Given the description of an element on the screen output the (x, y) to click on. 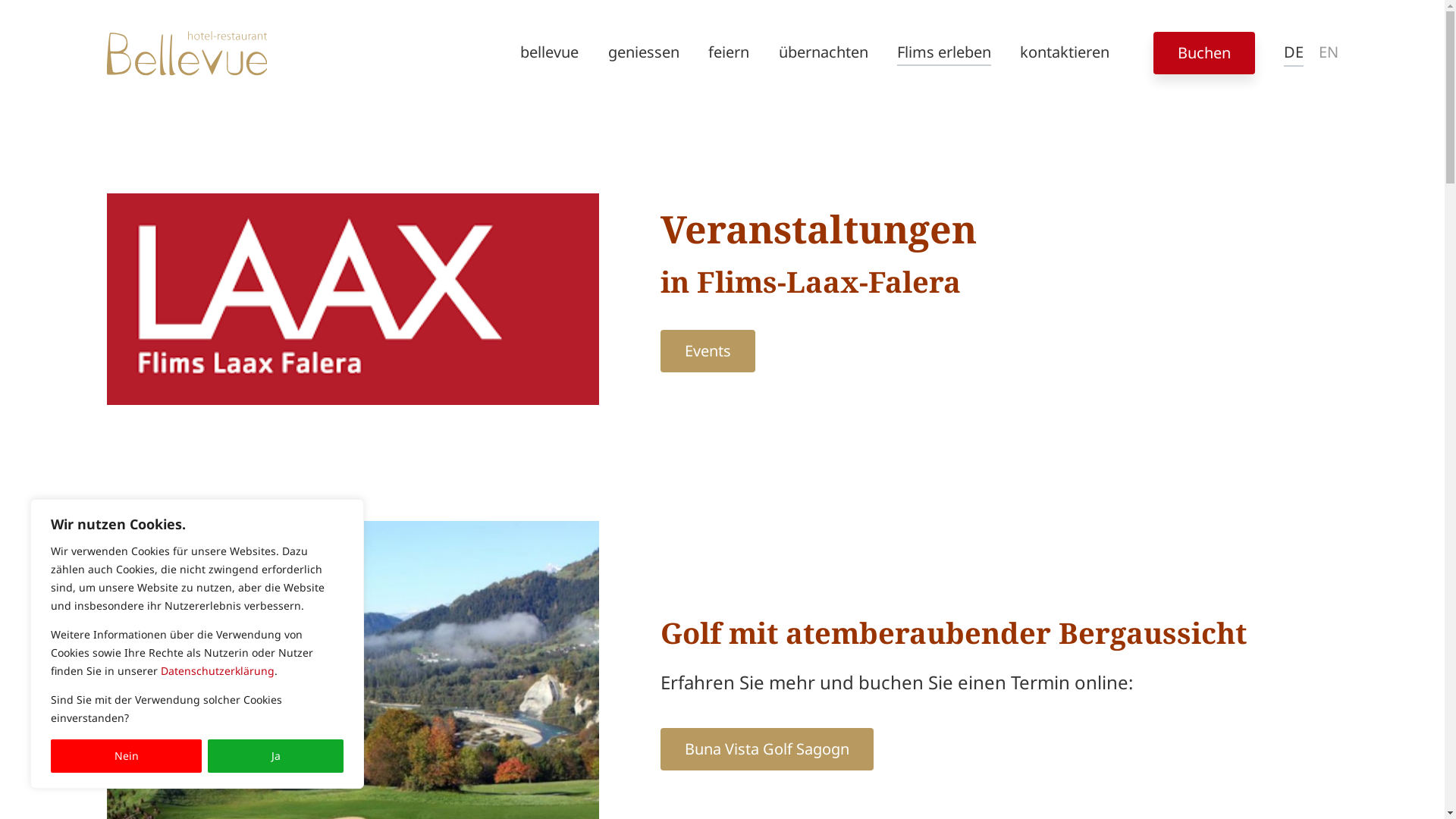
images FLF Element type: hover (352, 298)
geniessen Element type: text (643, 52)
Hotel Bellevue Element type: text (186, 53)
EN Element type: text (1327, 52)
Flims erleben Element type: text (944, 52)
Nein Element type: text (125, 755)
bellevue Element type: text (549, 52)
Ja Element type: text (275, 755)
feiern Element type: text (728, 52)
kontaktieren Element type: text (1064, 52)
Buna Vista Golf Sagogn Element type: text (766, 749)
Events Element type: text (707, 350)
DE Element type: text (1293, 52)
Buchen Element type: text (1204, 52)
